Given the description of an element on the screen output the (x, y) to click on. 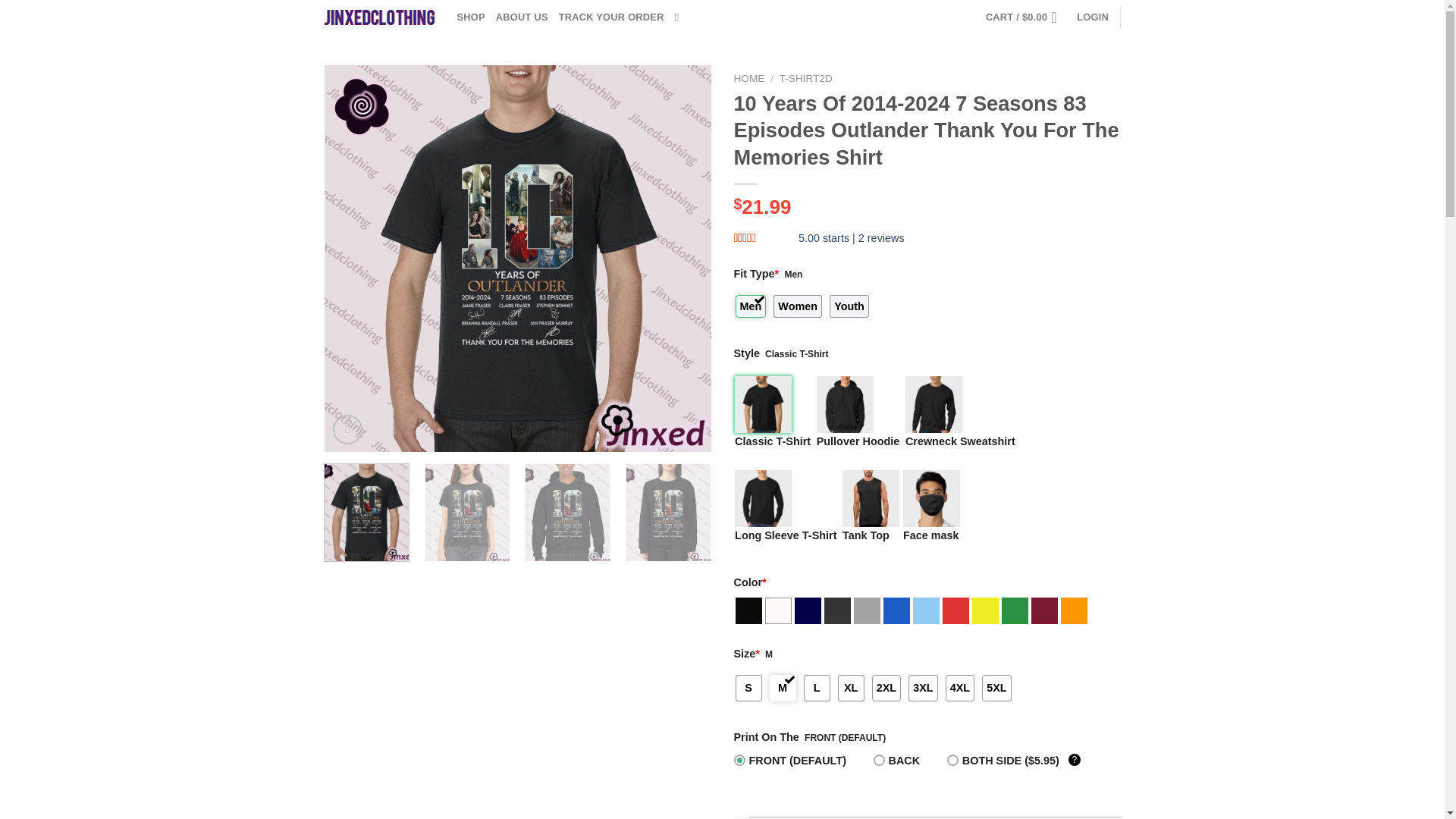
T-SHIRT2D (805, 78)
ABOUT US (522, 17)
Women (797, 305)
SHOP (470, 17)
Black (748, 610)
Zoom (347, 429)
LOGIN (1092, 17)
Cart (1025, 17)
Youth (849, 305)
White (777, 610)
TRACK YOUR ORDER (611, 17)
HOME (749, 78)
Navy blue (807, 610)
Men (751, 305)
